Given the description of an element on the screen output the (x, y) to click on. 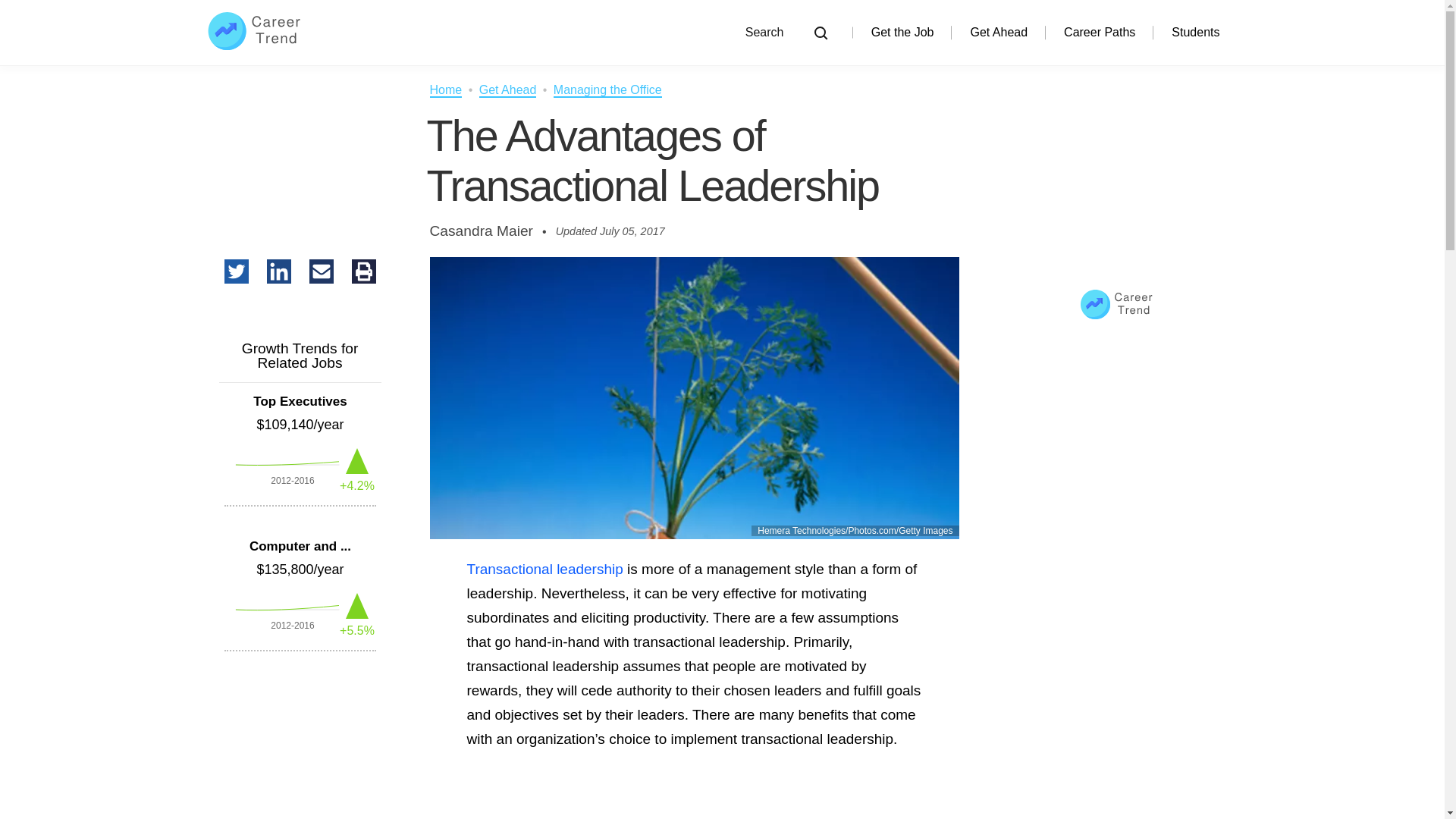
Get Ahead (998, 31)
Career Paths (1099, 31)
Get the Job (902, 31)
Advertisement (693, 809)
Students (1196, 31)
